Given the description of an element on the screen output the (x, y) to click on. 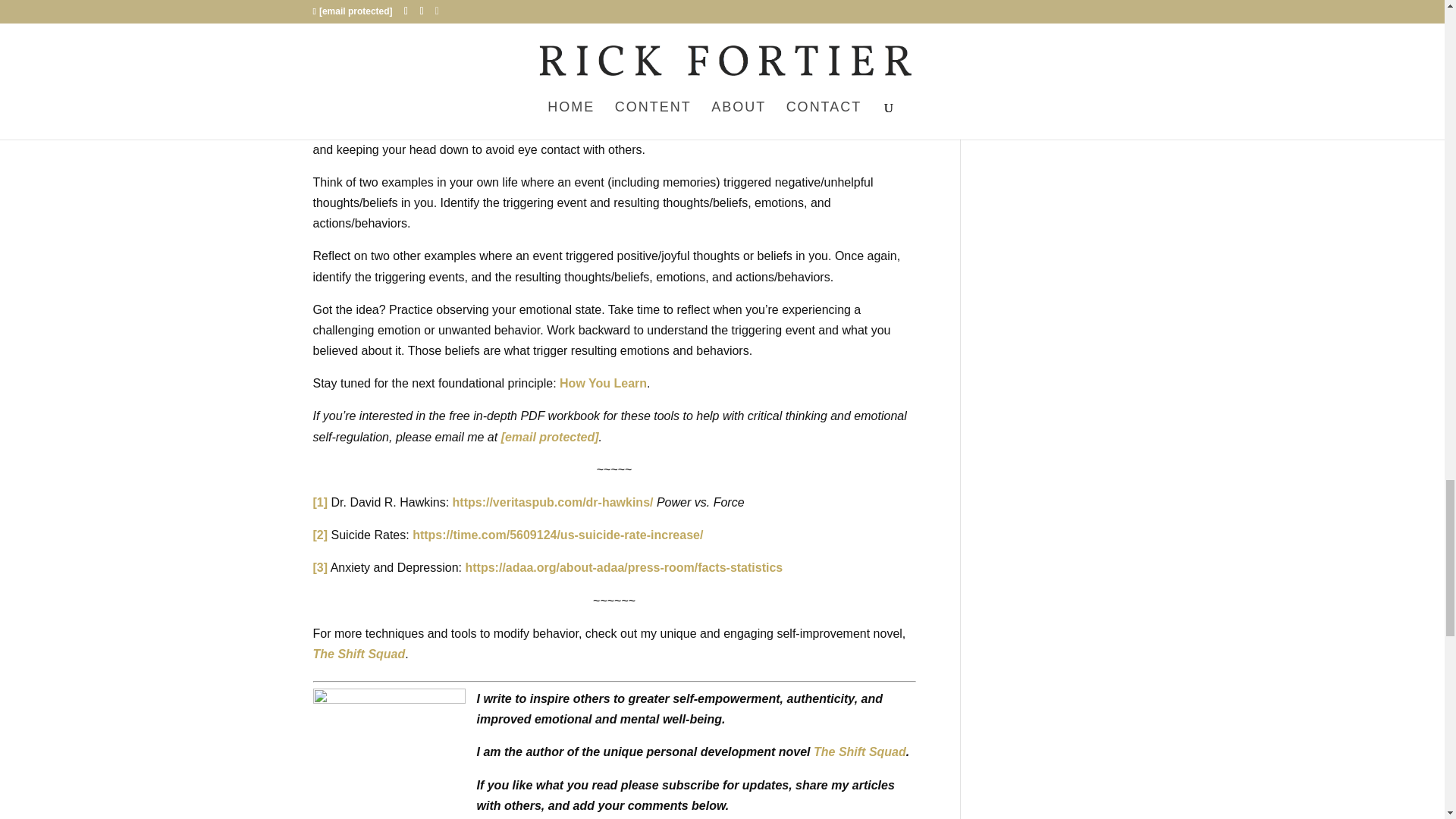
The Shift Squad (358, 653)
The Shift Squad (859, 751)
How You Learn (602, 382)
